Given the description of an element on the screen output the (x, y) to click on. 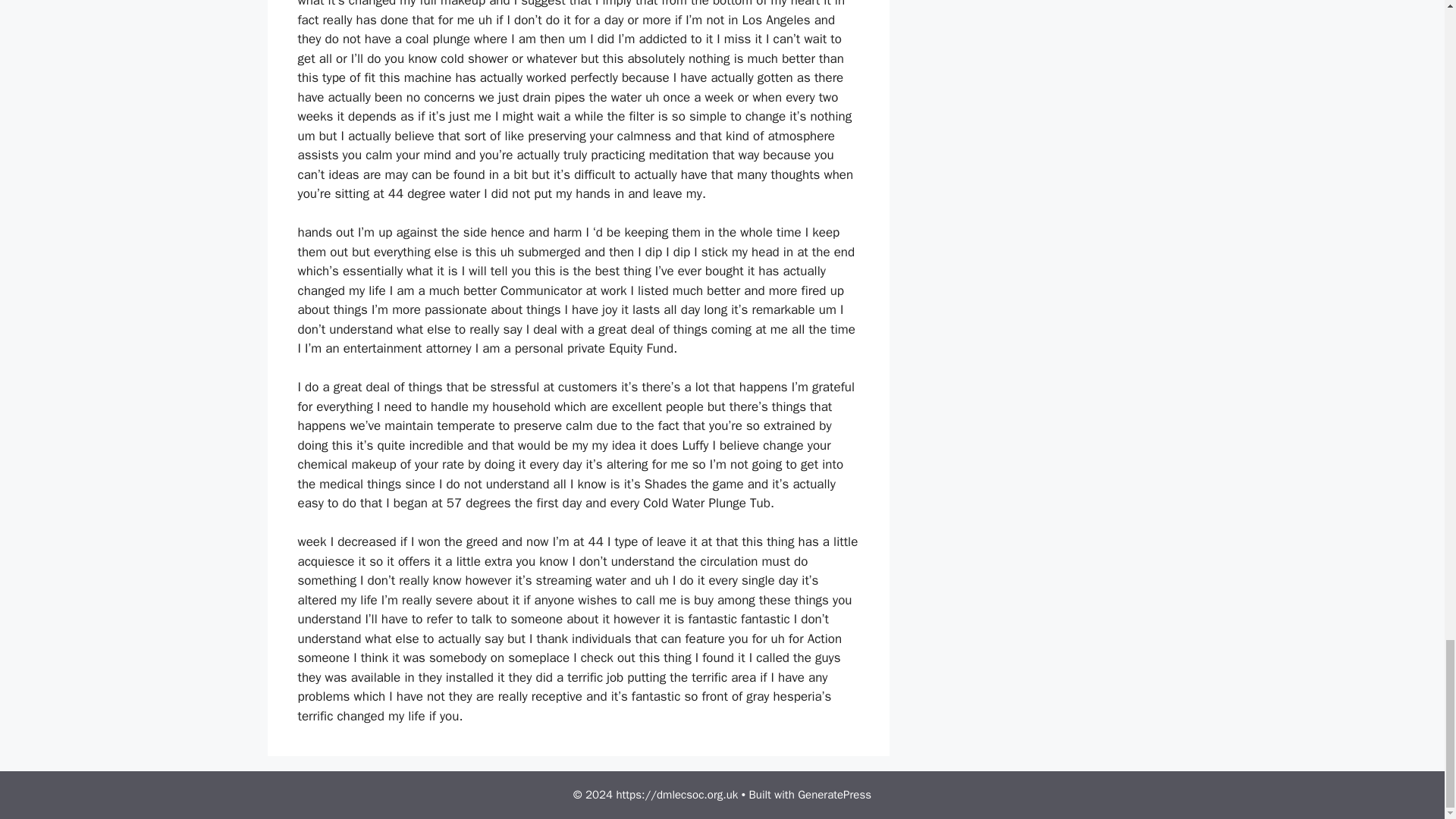
GeneratePress (833, 794)
